Given the description of an element on the screen output the (x, y) to click on. 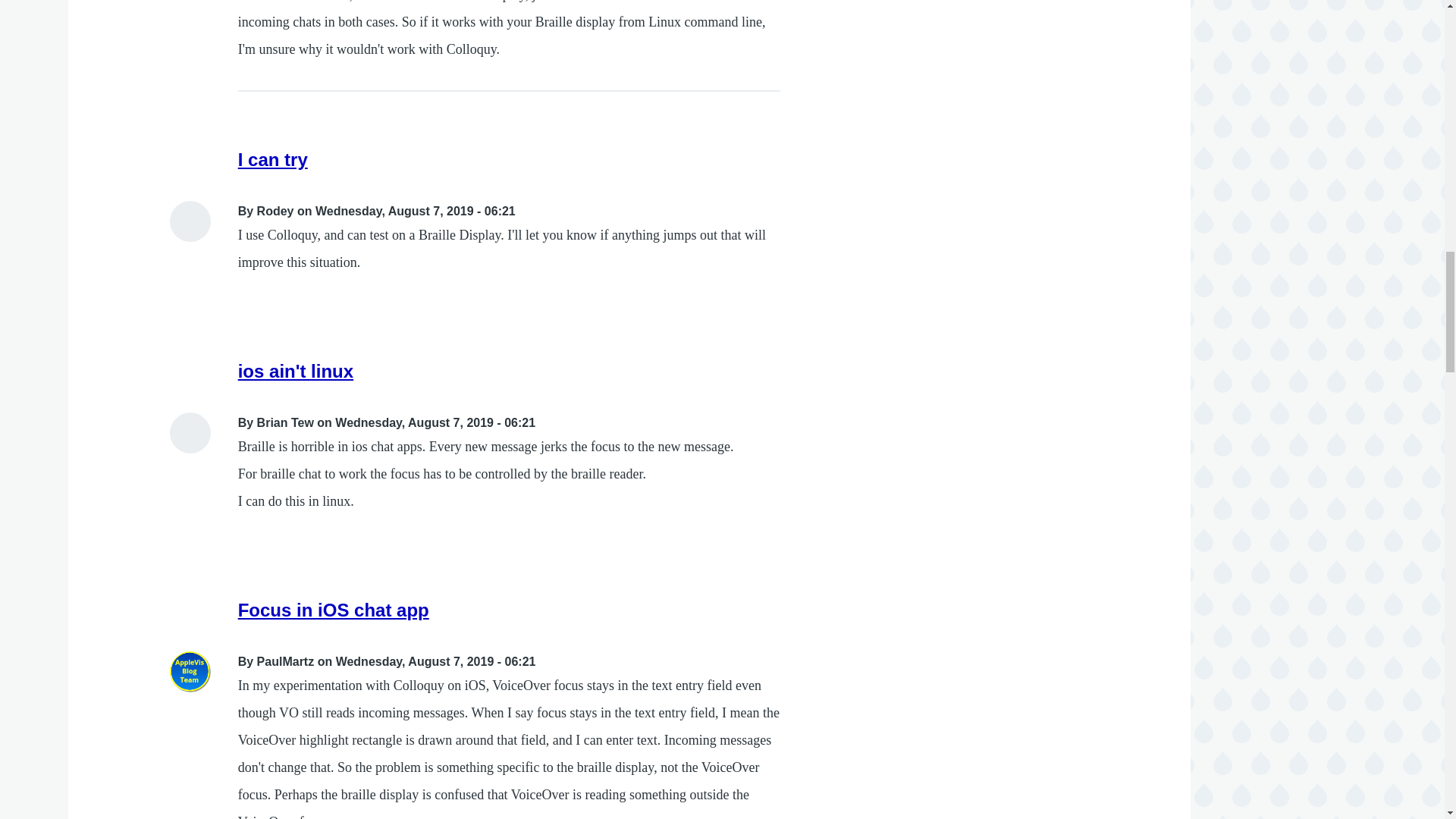
I can try (272, 159)
Focus in iOS chat app (333, 609)
ios ain't linux (295, 371)
